Given the description of an element on the screen output the (x, y) to click on. 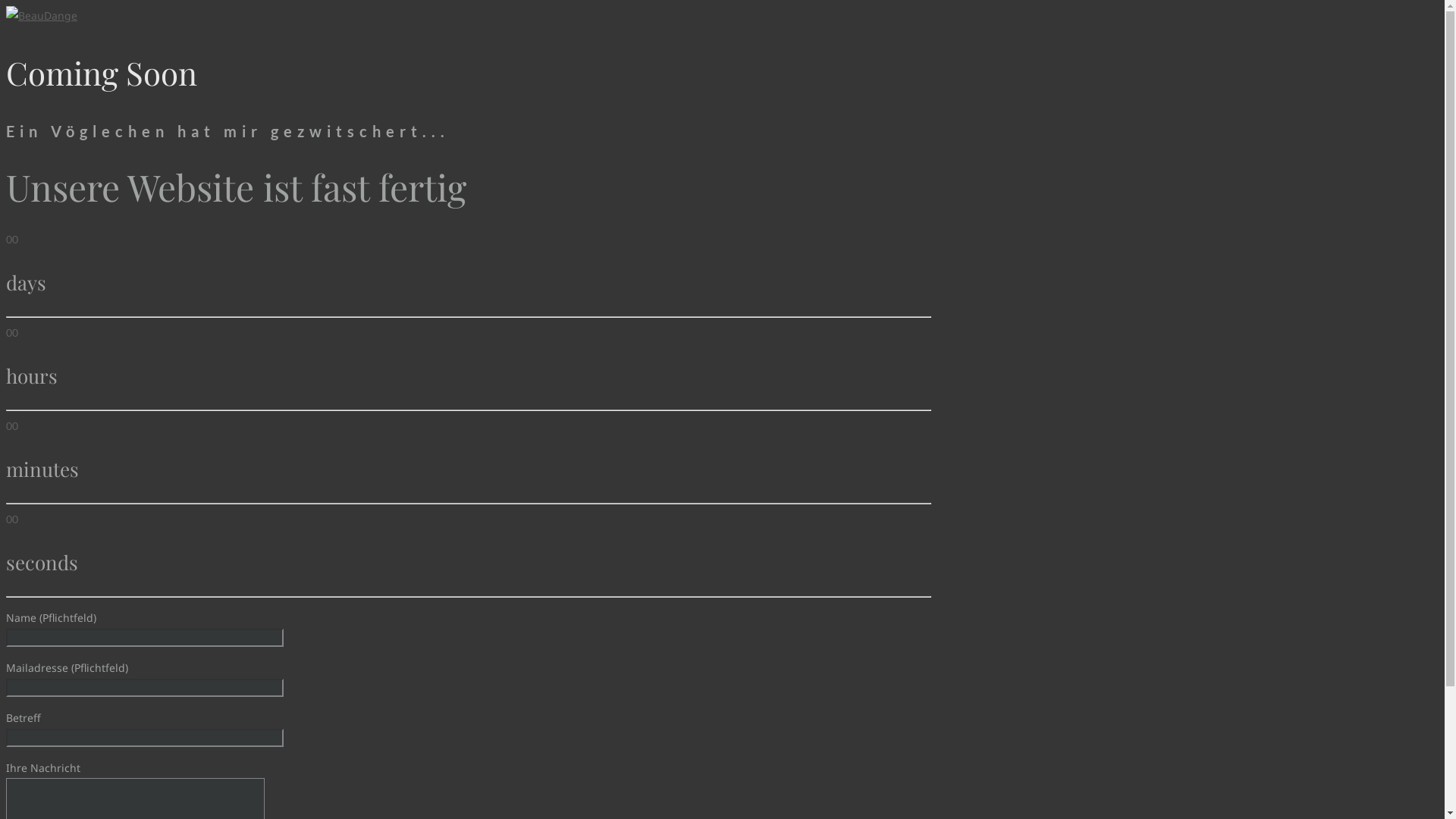
BeauDange Element type: hover (41, 15)
